Given the description of an element on the screen output the (x, y) to click on. 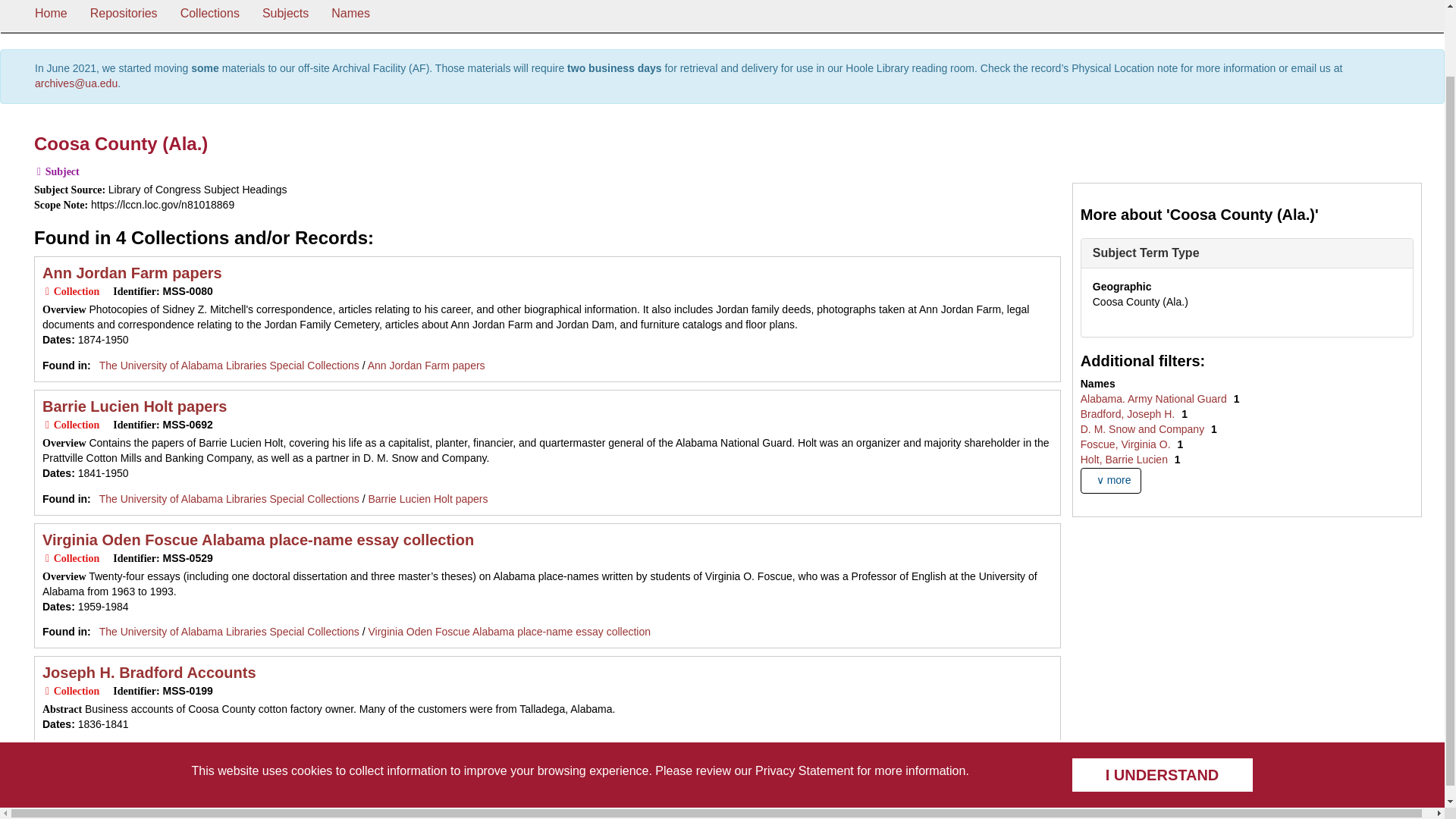
Holt, Barrie Lucien (1125, 459)
translation missing: en.dates (56, 724)
Privacy Statement (804, 695)
Barrie Lucien Holt papers (427, 499)
Joseph H. Bradford Accounts (436, 749)
Filter By 'Alabama. Army National Guard' (1155, 398)
Virginia Oden Foscue Alabama place-name essay collection (509, 631)
Subjects (285, 16)
Bradford, Joseph H. (1128, 413)
Alabama. Army National Guard (1155, 398)
